Given the description of an element on the screen output the (x, y) to click on. 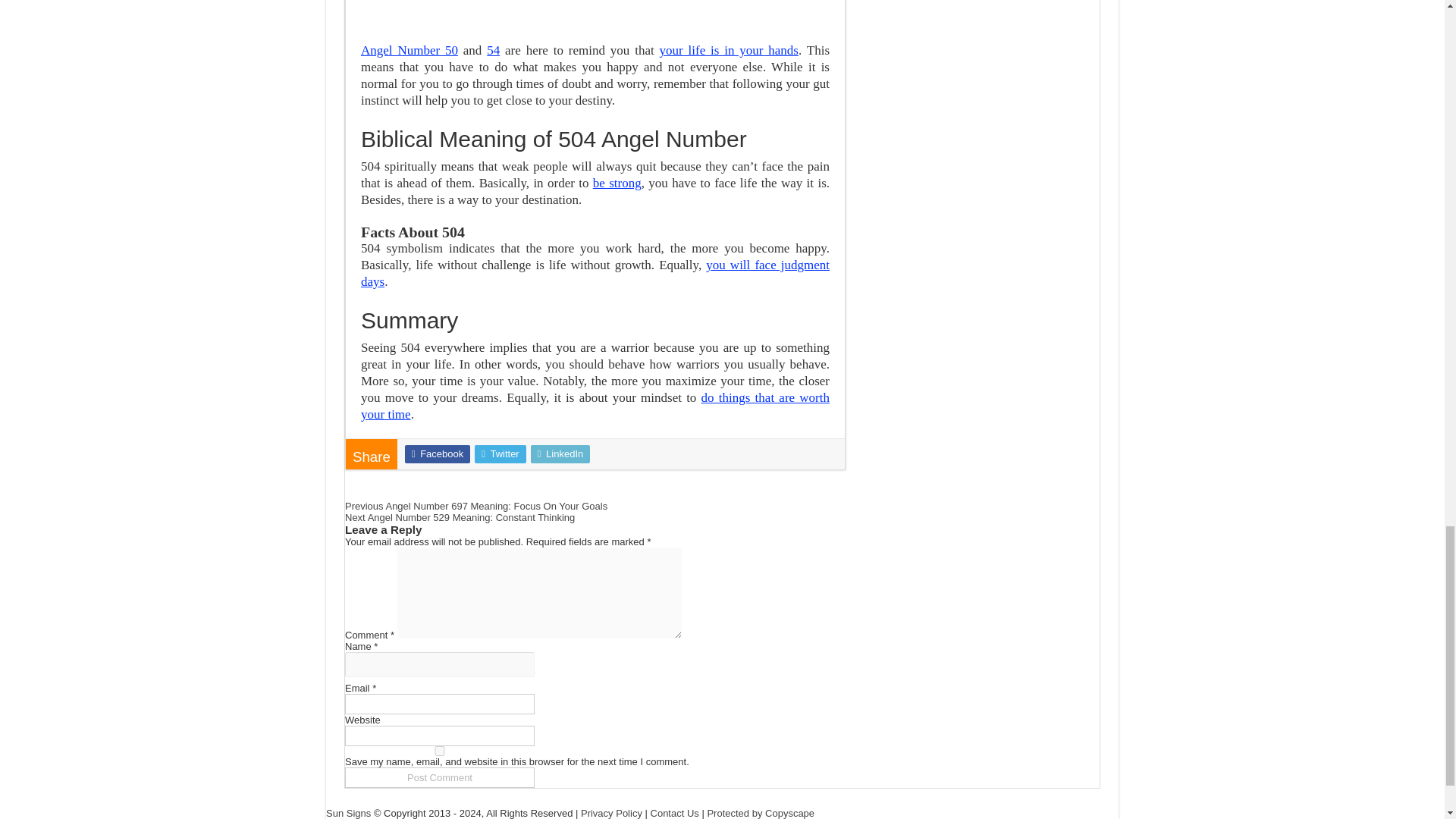
your life is in your hands (728, 50)
Facebook (437, 454)
LinkedIn (561, 454)
Post Comment (439, 777)
do things that are worth your time (595, 405)
Next Angel Number 529 Meaning: Constant Thinking (460, 517)
be strong (617, 183)
Previous Angel Number 697 Meaning: Focus On Your Goals (476, 505)
yes (439, 750)
Angel Number 50 (409, 50)
54 (492, 50)
you will face judgment days (595, 273)
Twitter (499, 454)
